Given the description of an element on the screen output the (x, y) to click on. 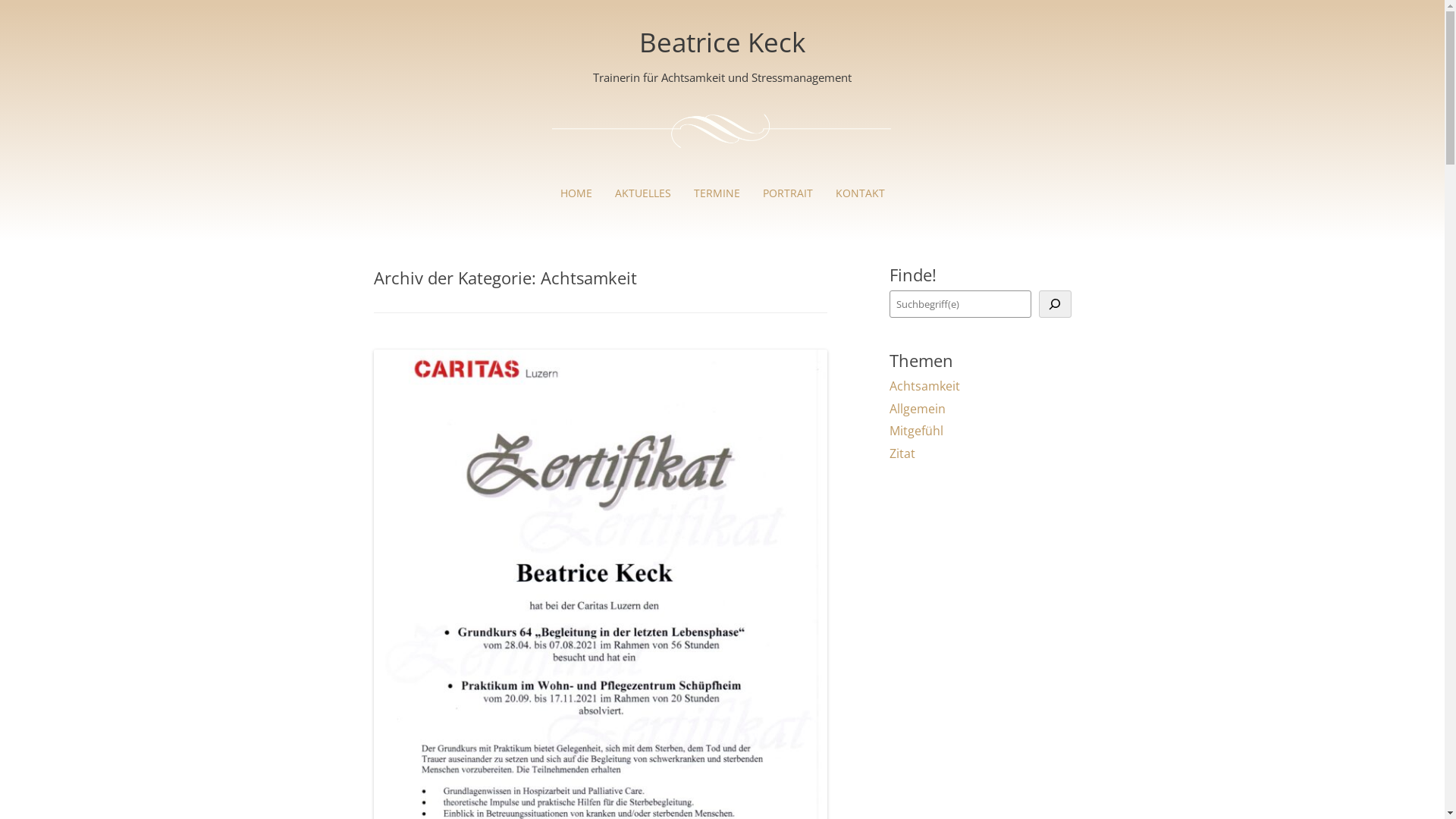
Zitat Element type: text (902, 453)
AKTUELLES Element type: text (642, 192)
KONTAKT Element type: text (859, 192)
Beatrice Keck Element type: text (722, 42)
Allgemein Element type: text (917, 408)
TERMINE Element type: text (716, 192)
Zum Inhalt springen Element type: text (721, 163)
HOME Element type: text (576, 192)
Achtsamkeit Element type: text (924, 385)
PORTRAIT Element type: text (787, 192)
